Given the description of an element on the screen output the (x, y) to click on. 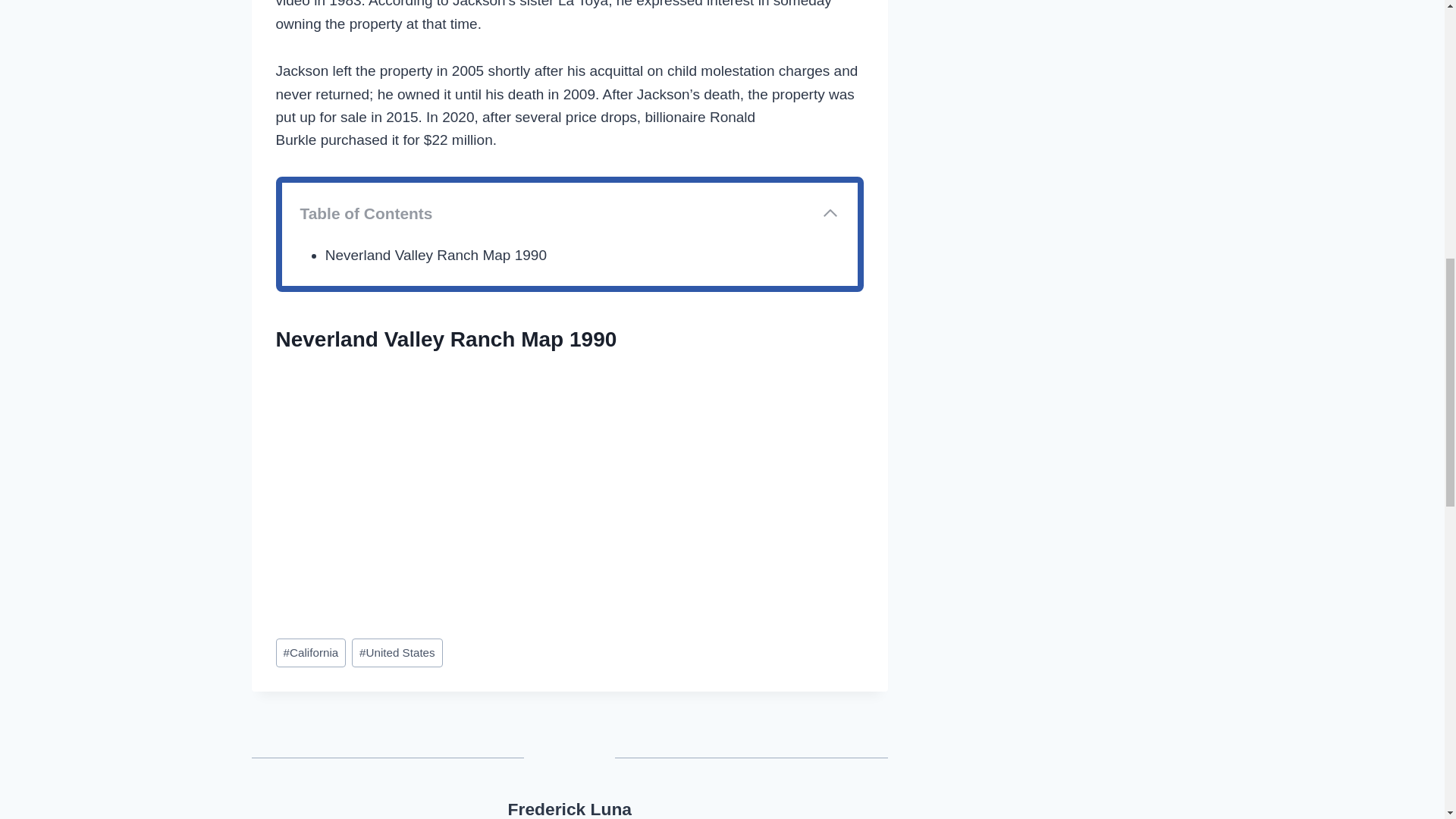
Posts by Frederick Luna (569, 809)
Frederick Luna (569, 809)
Table of Contents (569, 213)
United States (397, 652)
Neverland Valley Ranch Map 1990 (435, 254)
California (311, 652)
